Given the description of an element on the screen output the (x, y) to click on. 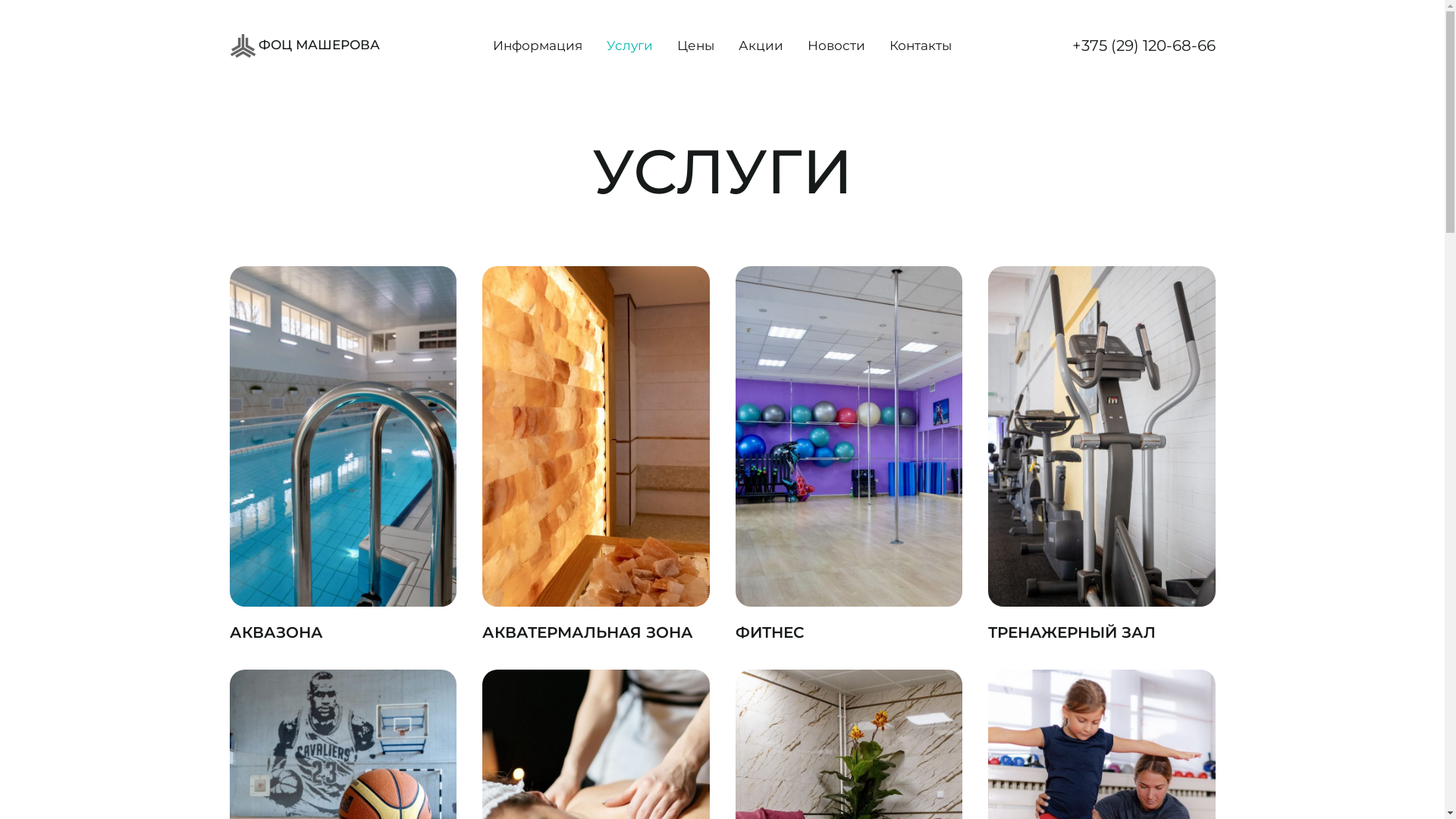
+375 (29) 120-68-66 Element type: text (1143, 45)
